Given the description of an element on the screen output the (x, y) to click on. 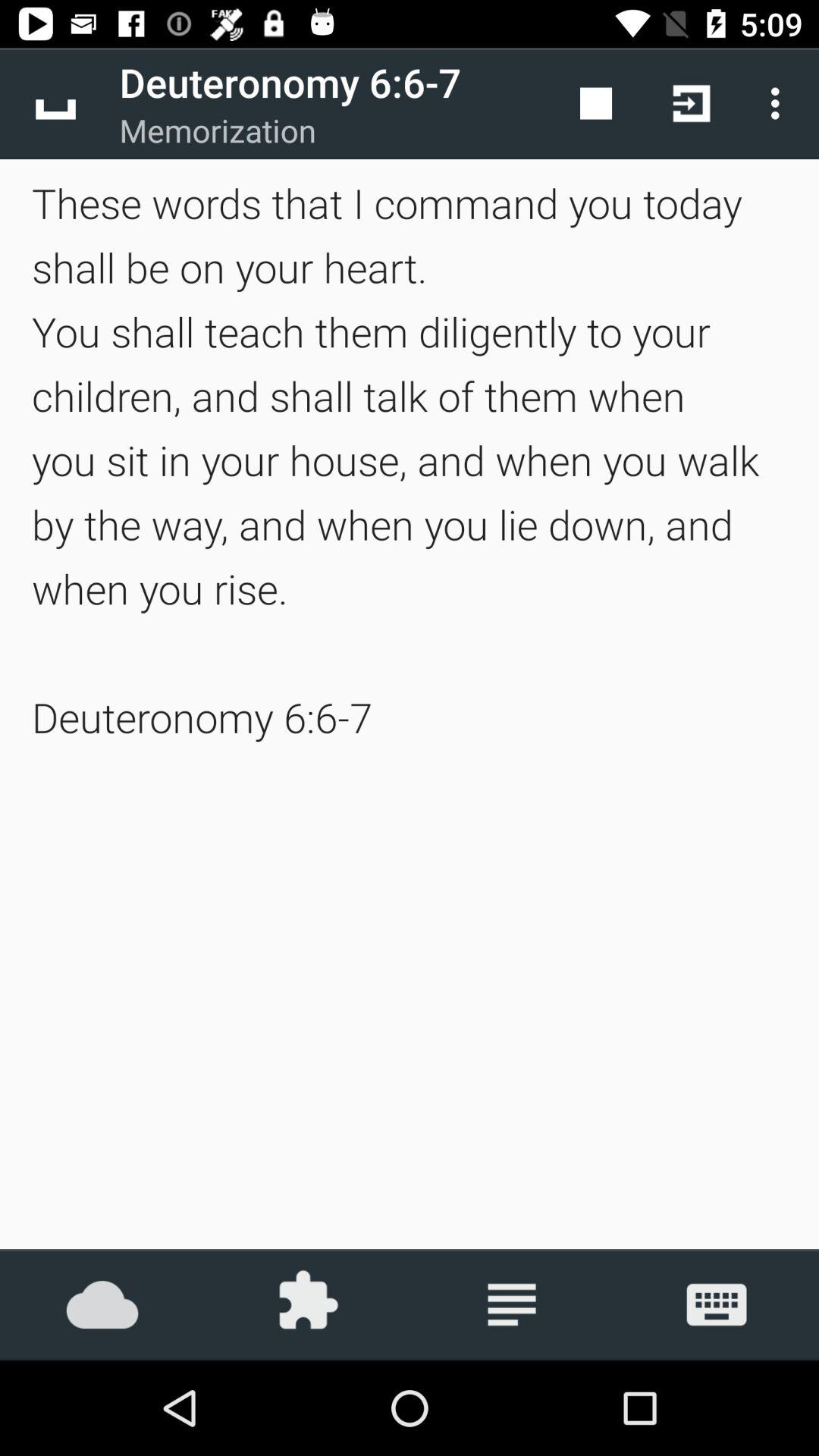
press the app next to the deuteronomy 6 6 icon (595, 103)
